Given the description of an element on the screen output the (x, y) to click on. 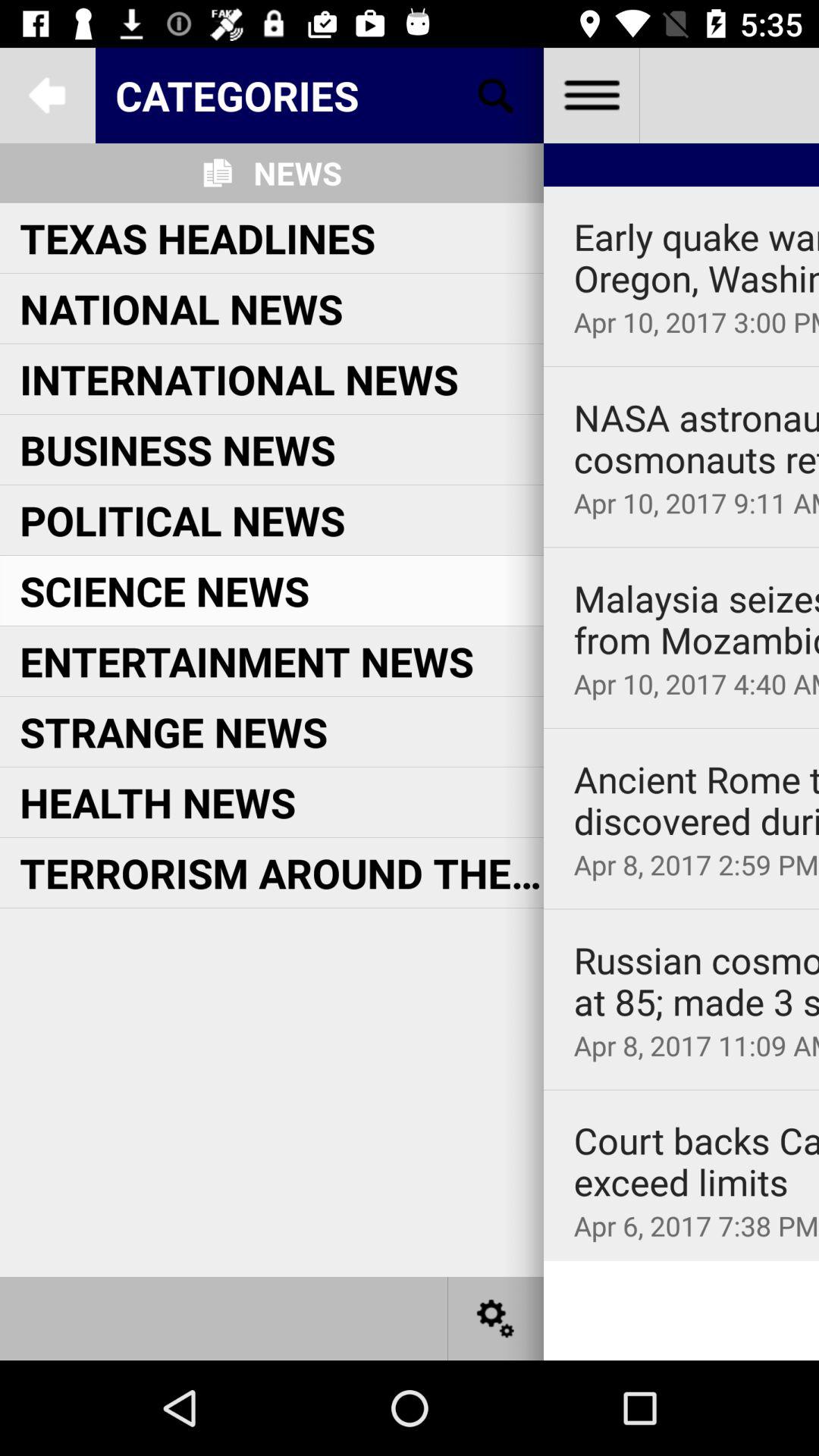
turn on app above the malaysia seizes 18 app (681, 547)
